Given the description of an element on the screen output the (x, y) to click on. 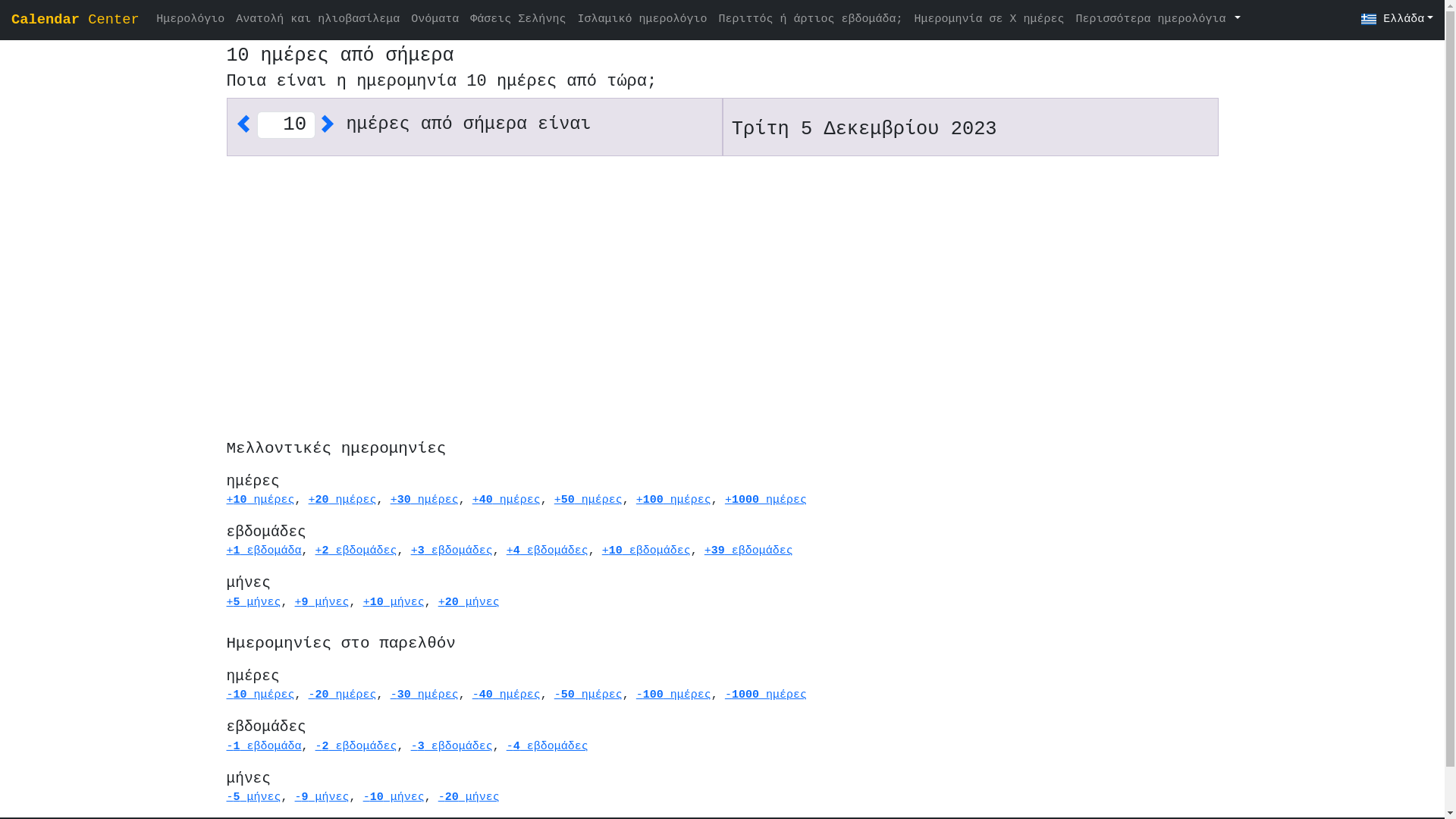
Calendar Center Element type: text (75, 20)
Advertisement Element type: hover (684, 273)
